Given the description of an element on the screen output the (x, y) to click on. 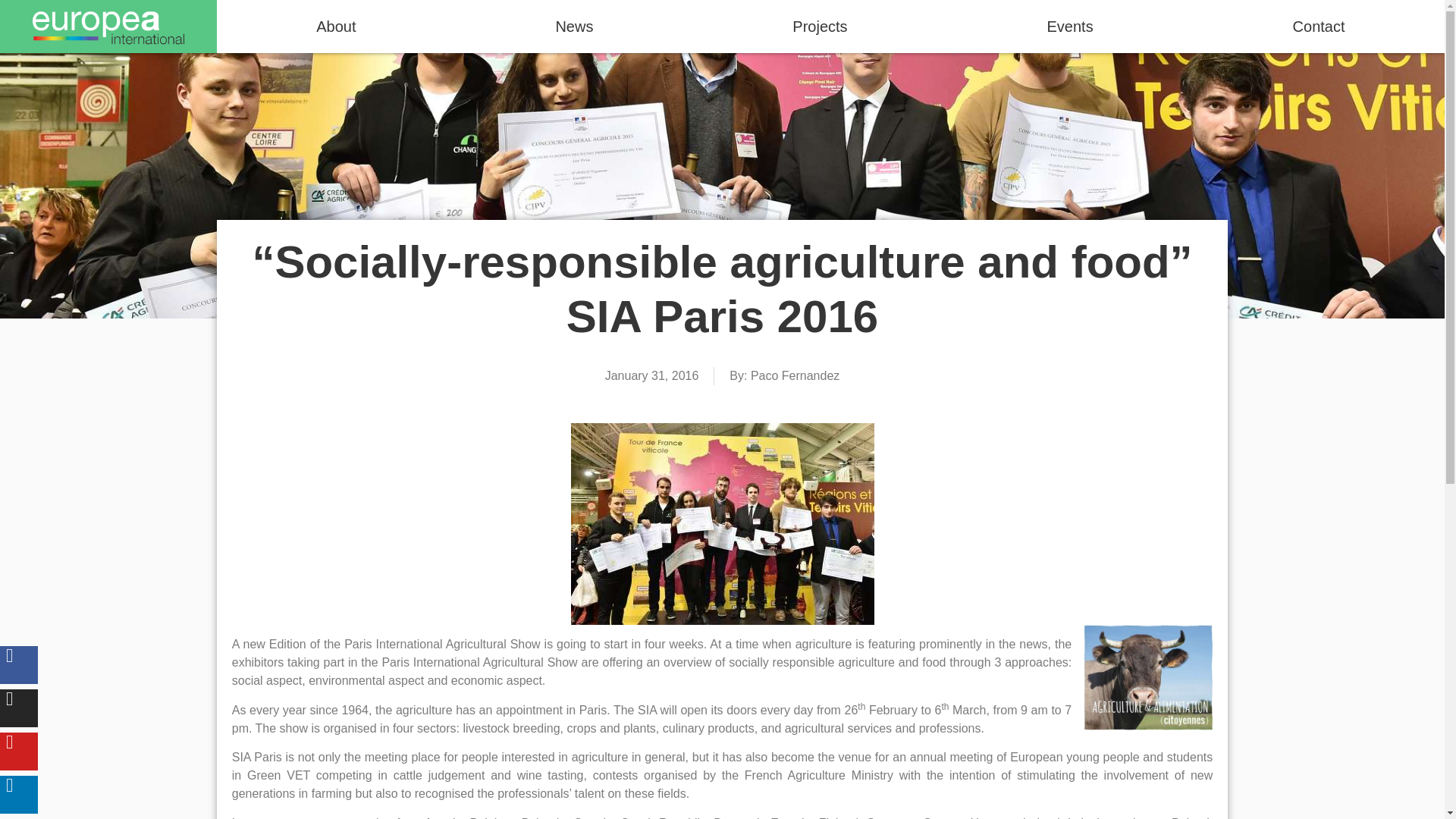
About (335, 26)
Events (1069, 26)
Projects (820, 26)
News (574, 26)
